Given the description of an element on the screen output the (x, y) to click on. 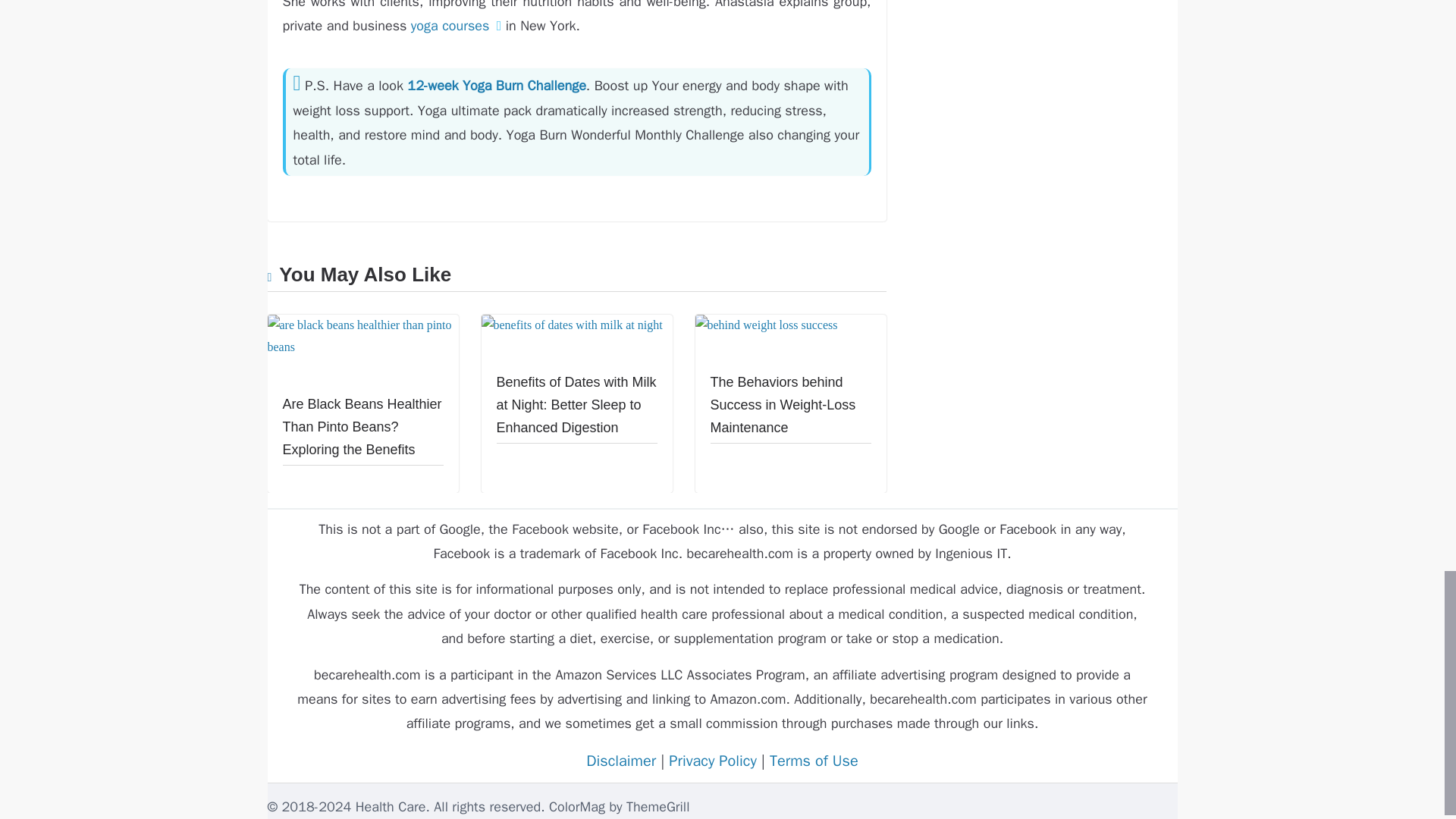
yoga courses (449, 25)
12-week Yoga Burn Challenge (496, 85)
The Behaviors behind Success in Weight-Loss Maintenance (783, 404)
The Behaviors behind Success in Weight-Loss Maintenance (765, 324)
